Given the description of an element on the screen output the (x, y) to click on. 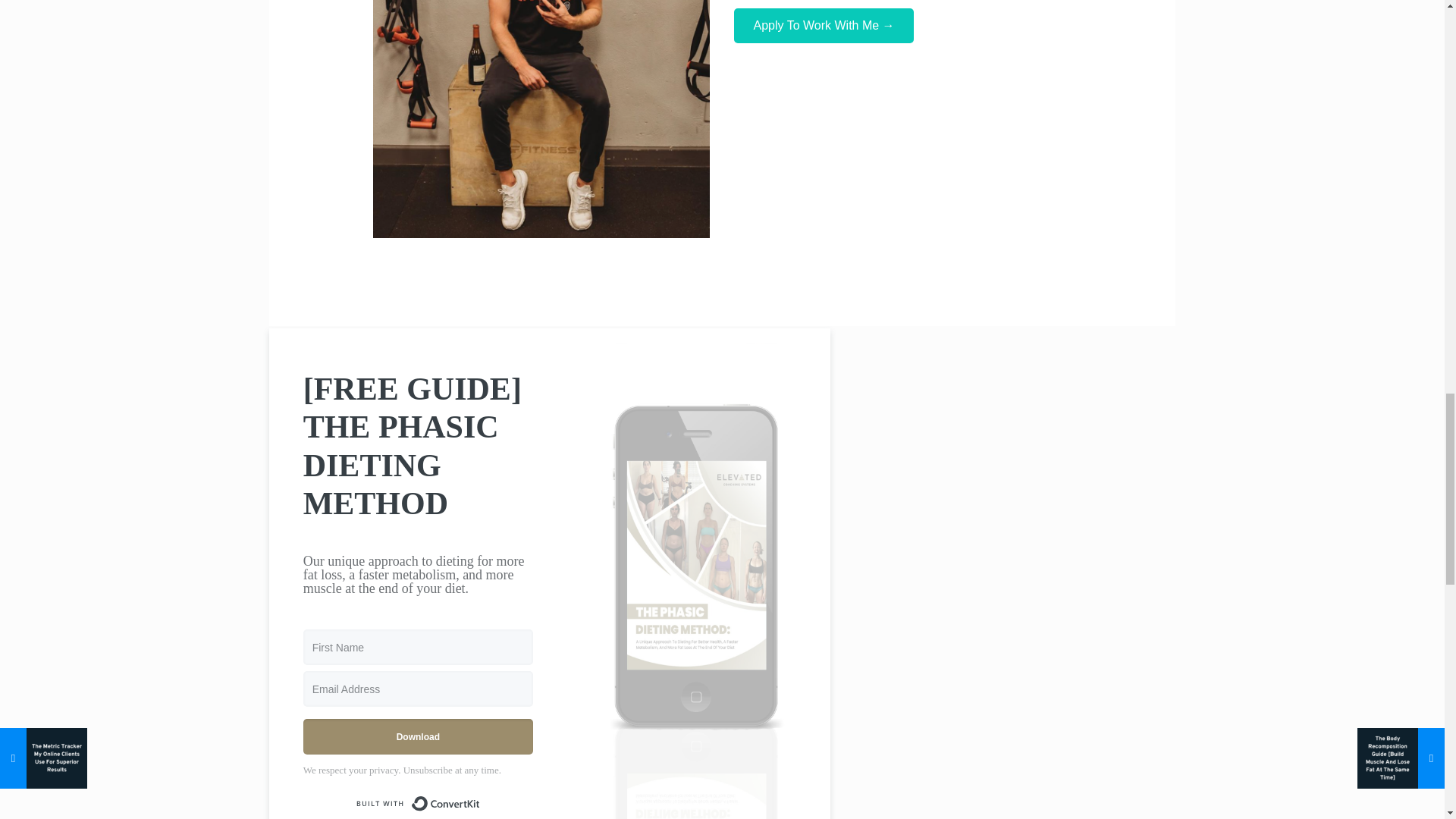
Download (417, 736)
Built with ConvertKit (417, 803)
